Given the description of an element on the screen output the (x, y) to click on. 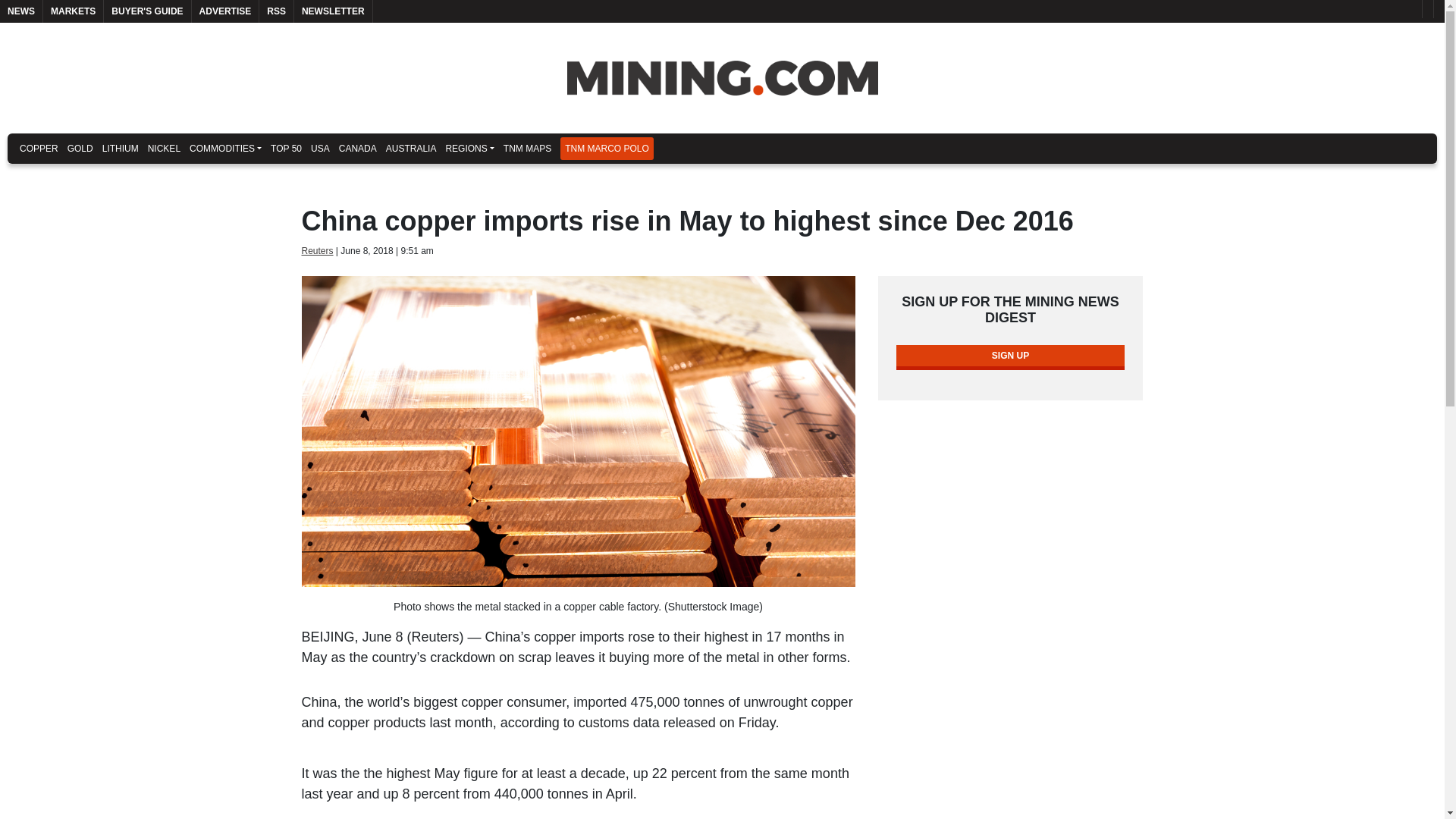
ADVERTISE (225, 11)
RSS (276, 11)
NEWSLETTER (333, 11)
MARKETS (73, 11)
BUYER'S GUIDE (146, 11)
COPPER (38, 148)
NICKEL (163, 148)
COMMODITIES (225, 148)
LITHIUM (119, 148)
NEWS (21, 11)
GOLD (79, 148)
